Given the description of an element on the screen output the (x, y) to click on. 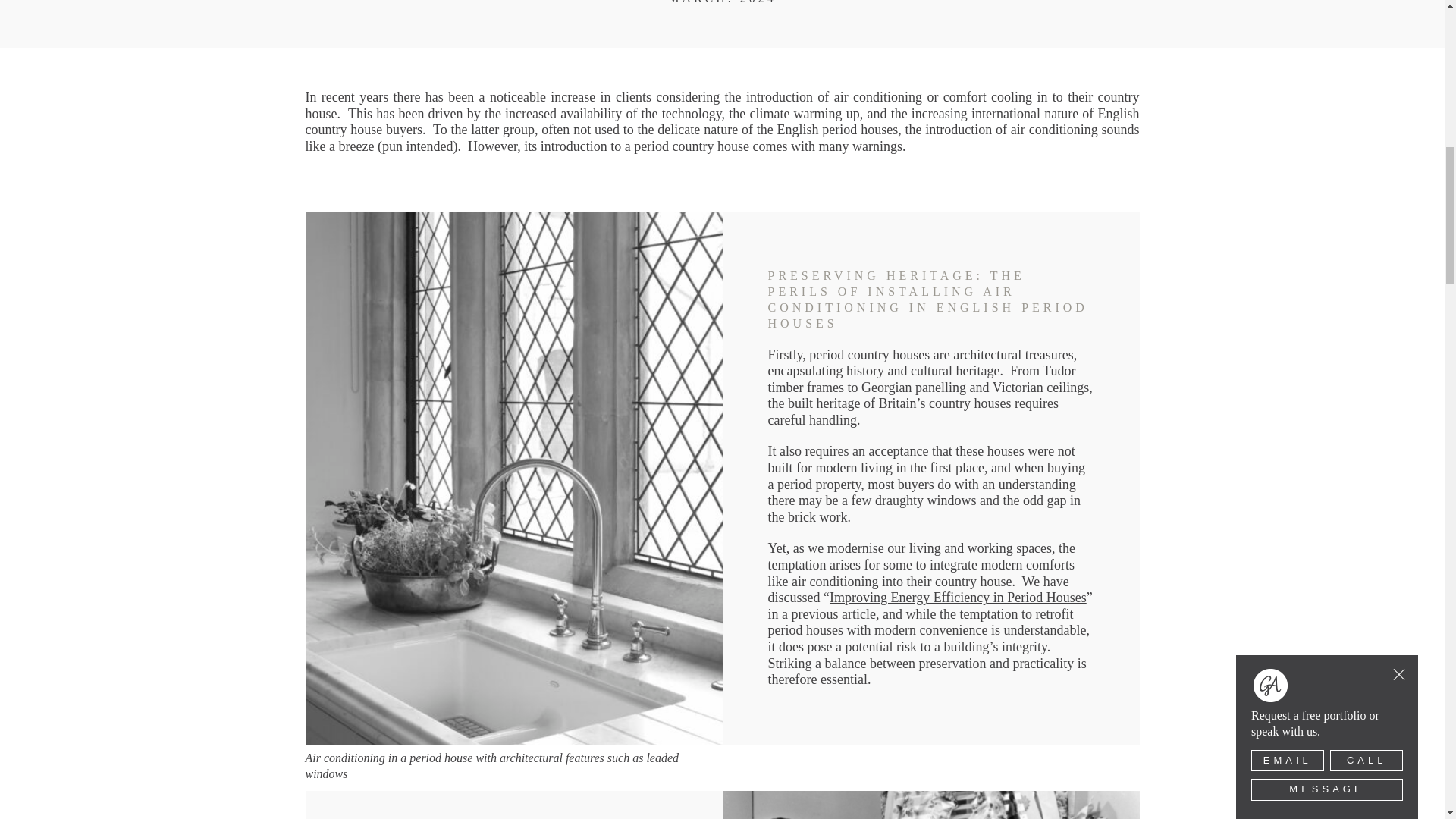
Improving Energy Efficiency in Period Houses (957, 597)
